Given the description of an element on the screen output the (x, y) to click on. 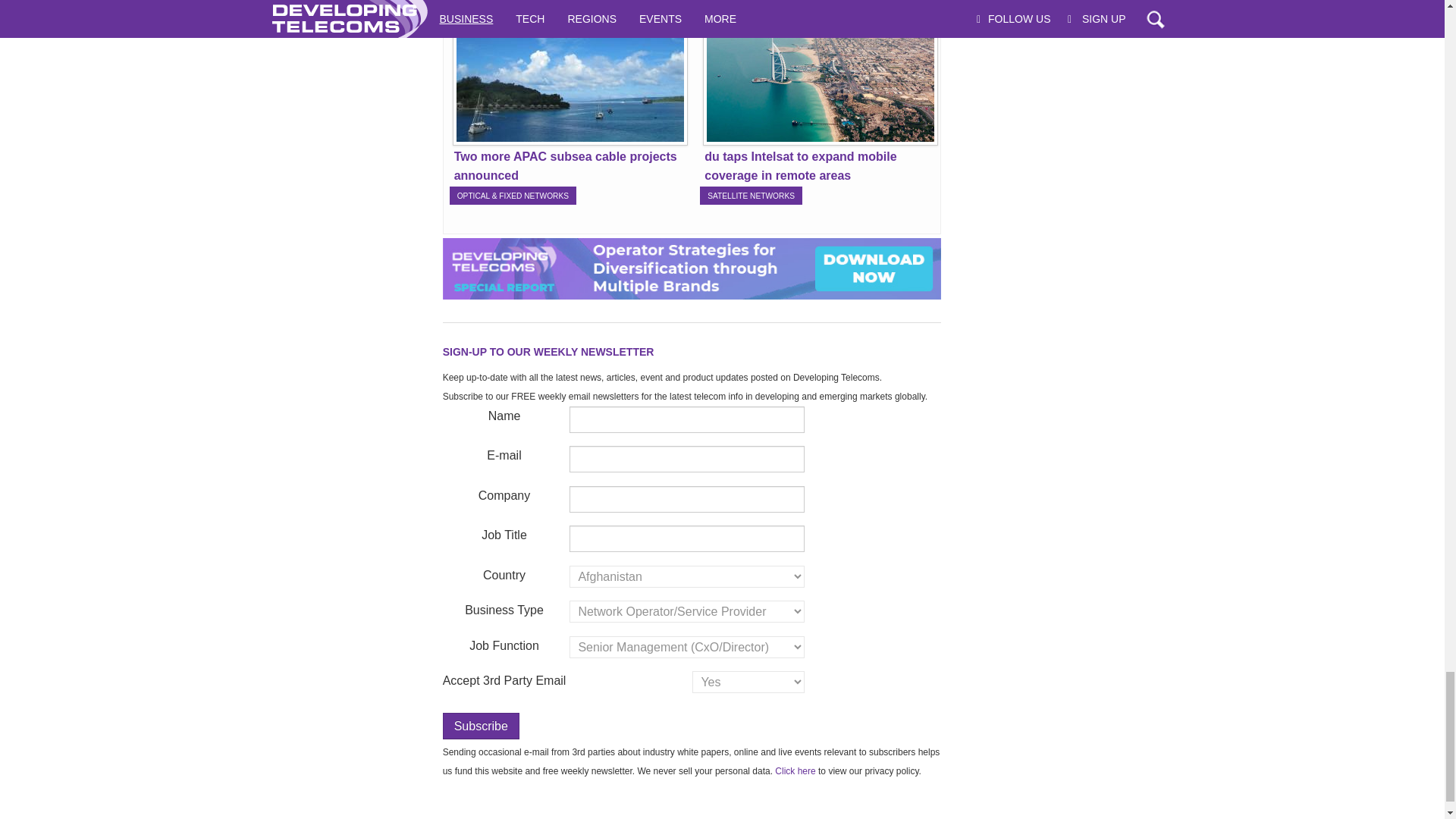
Subscribe (480, 725)
